Given the description of an element on the screen output the (x, y) to click on. 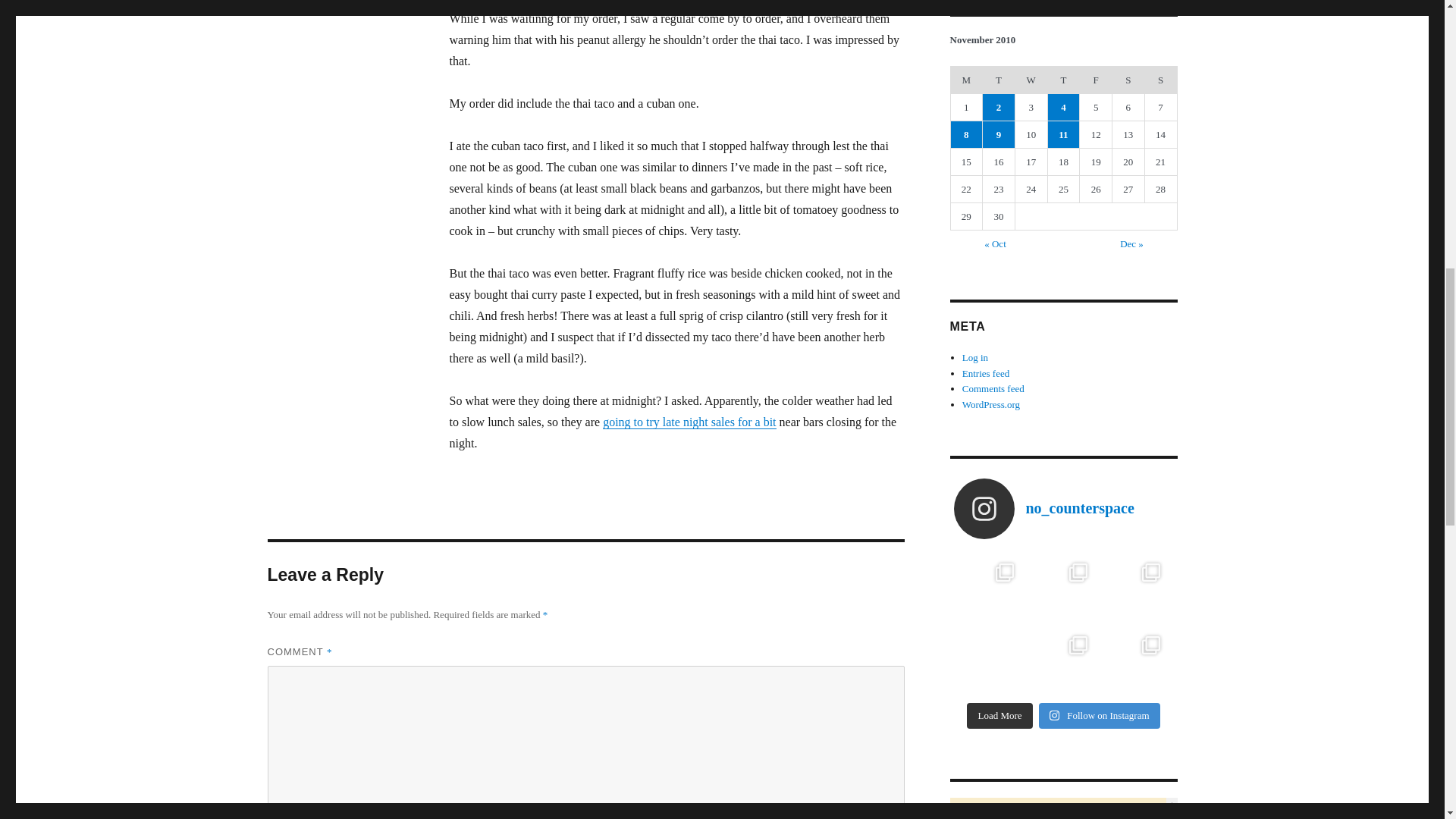
going to try late night sales for a bit (689, 421)
Saturday (1128, 79)
Log in (975, 357)
Tuesday (998, 79)
Sunday (1160, 79)
Wednesday (1030, 79)
9 (998, 134)
Entries feed (985, 372)
11 (1064, 134)
Thursday (1063, 79)
